Given the description of an element on the screen output the (x, y) to click on. 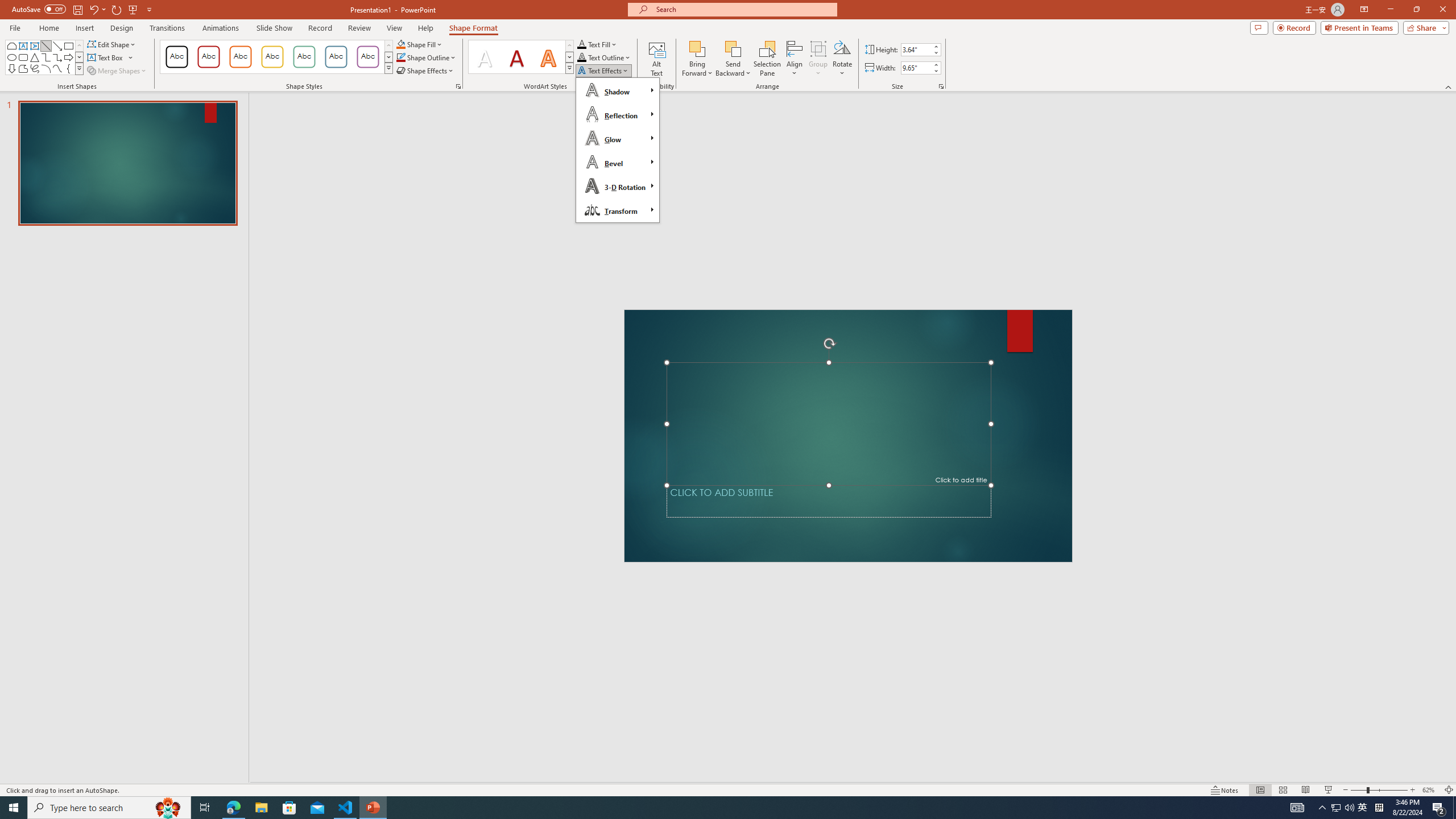
Send Backward (733, 58)
Text Outline (604, 56)
AutomationID: TextStylesGallery (521, 56)
